Given the description of an element on the screen output the (x, y) to click on. 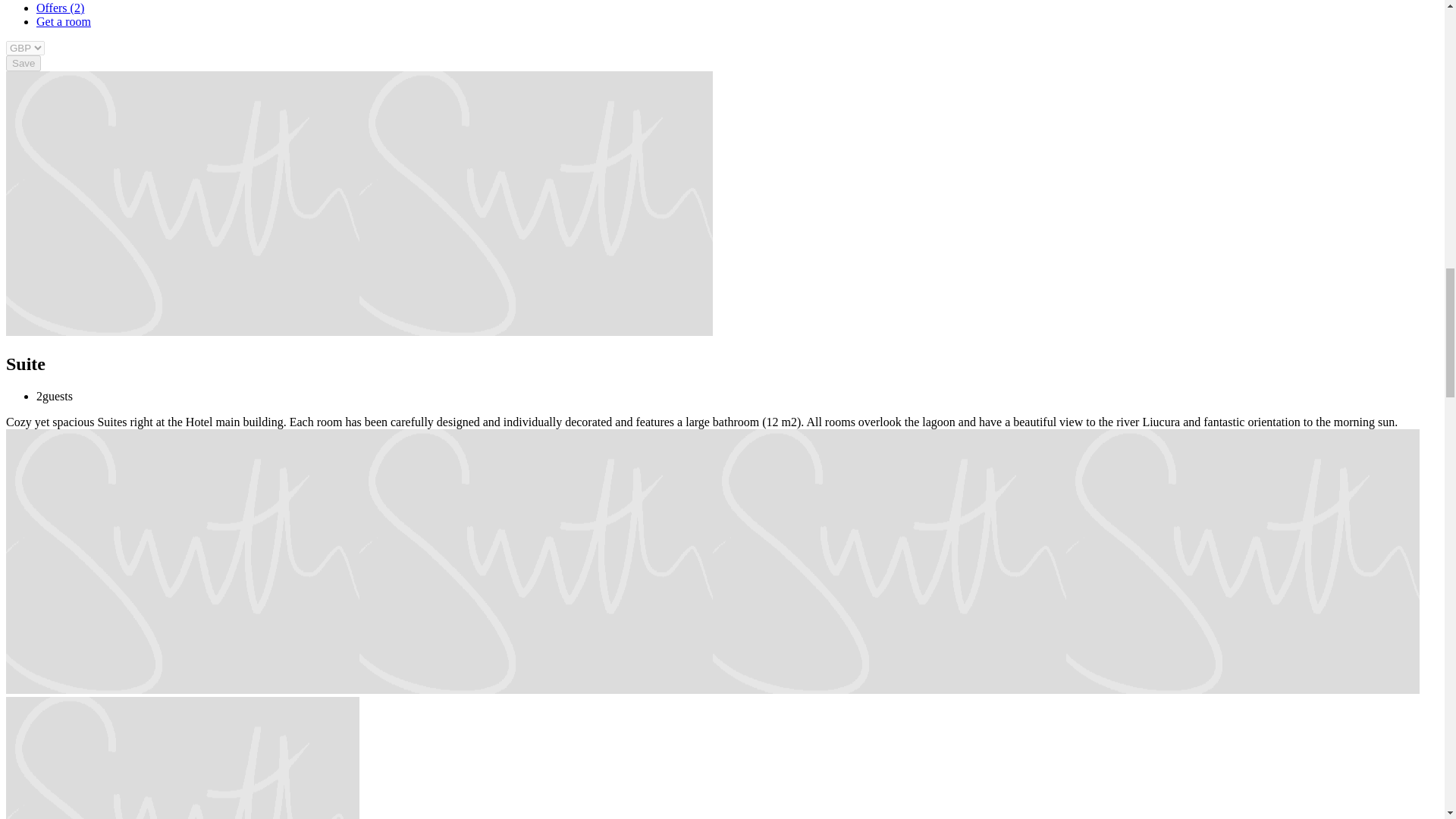
Reviews (57, 0)
Get a room (63, 21)
Save (22, 63)
